Given the description of an element on the screen output the (x, y) to click on. 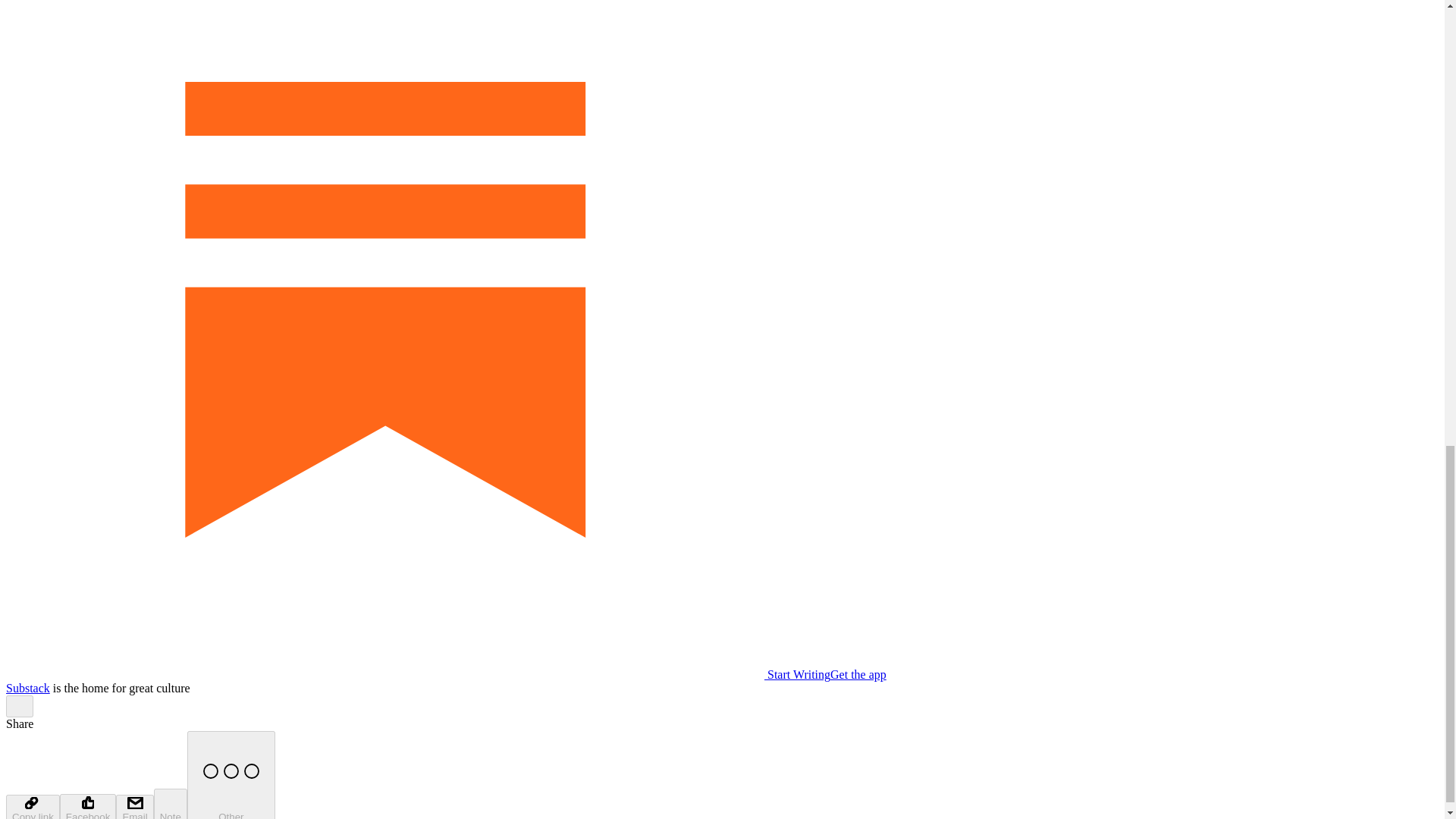
Start Writing (417, 674)
Get the app (857, 674)
Substack (27, 687)
